Given the description of an element on the screen output the (x, y) to click on. 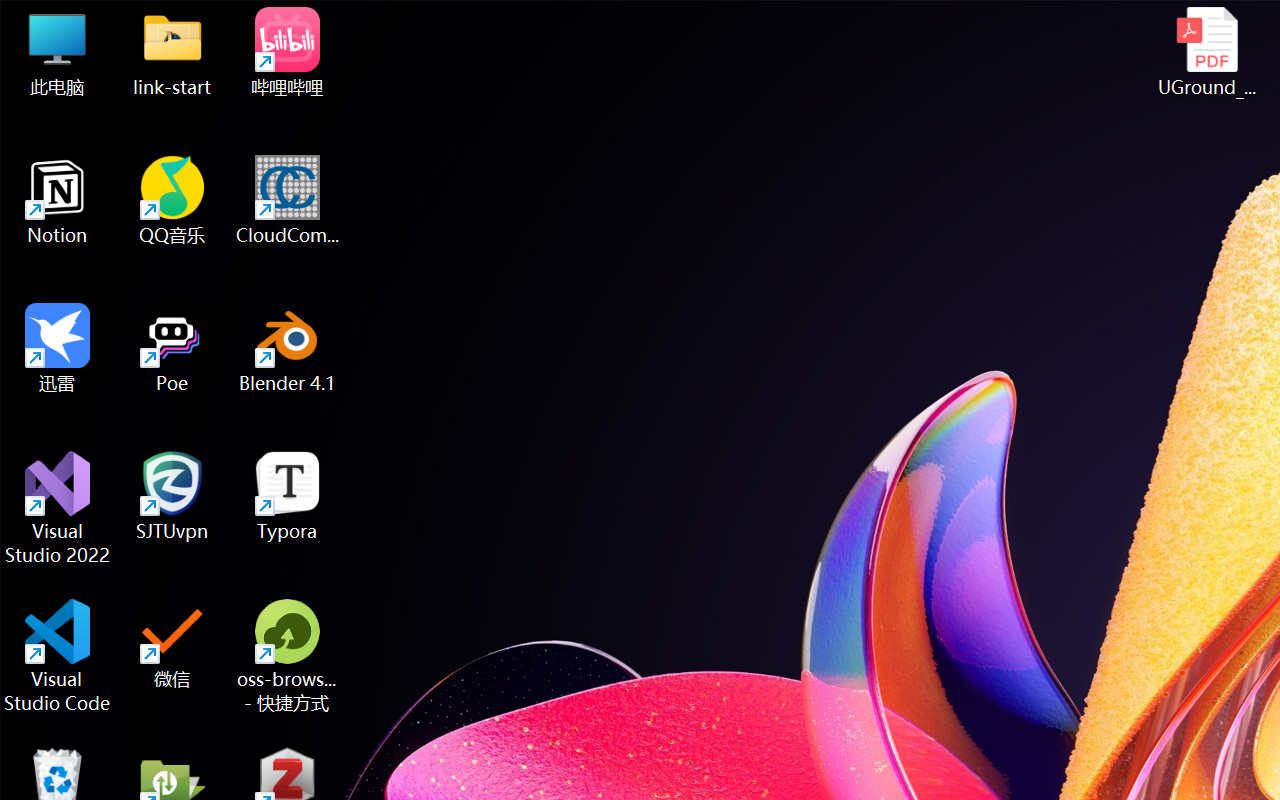
Visual Studio 2022 (57, 508)
Visual Studio Code (57, 656)
UGround_paper.pdf (1206, 52)
SJTUvpn (172, 496)
Blender 4.1 (287, 348)
Typora (287, 496)
CloudCompare (287, 200)
